Given the description of an element on the screen output the (x, y) to click on. 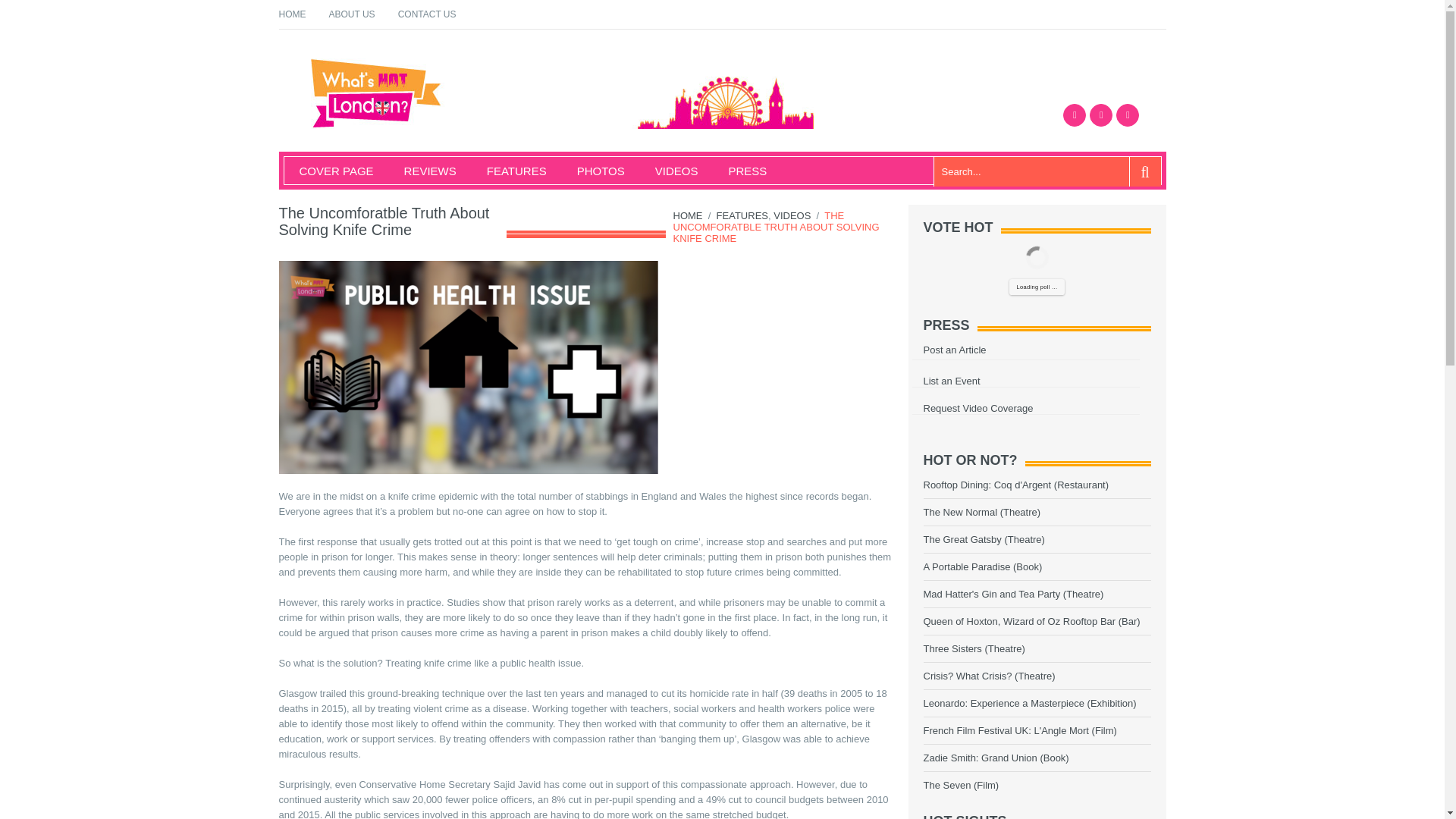
HOME (687, 215)
HOME (292, 14)
4 (1107, 676)
FEATURES (742, 215)
4 (1107, 539)
4 (1107, 648)
VIDEOS (669, 170)
COVER PAGE (327, 170)
5 (1112, 605)
PHOTOS (593, 170)
